Given the description of an element on the screen output the (x, y) to click on. 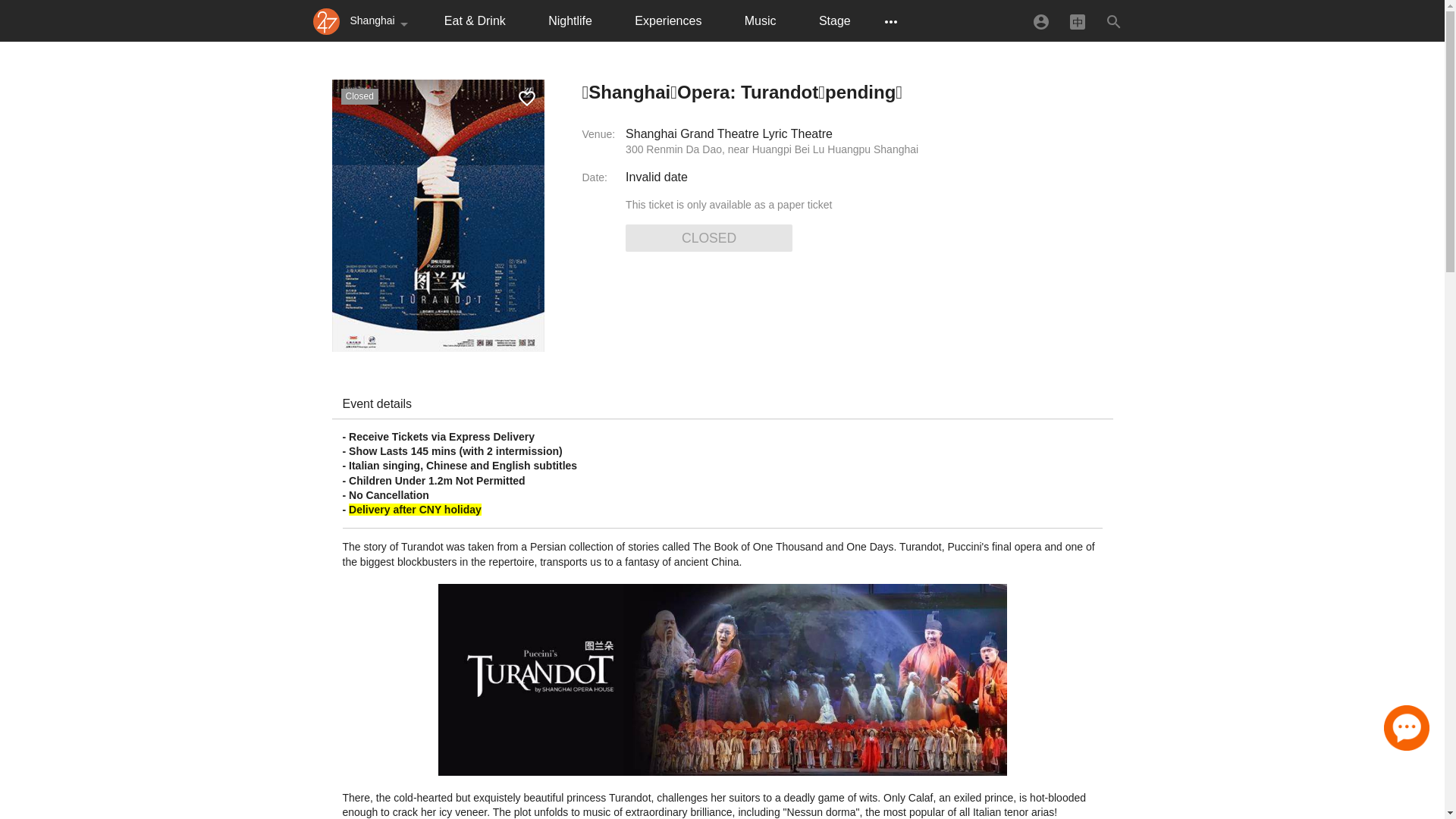
Music Element type: text (760, 21)
Stage Element type: text (834, 21)
CLOSED Element type: text (708, 237)
Experiences Element type: text (667, 21)
Shanghai Element type: text (381, 20)
Nightlife Element type: text (569, 21)
Eat & Drink Element type: text (474, 21)
